Given the description of an element on the screen output the (x, y) to click on. 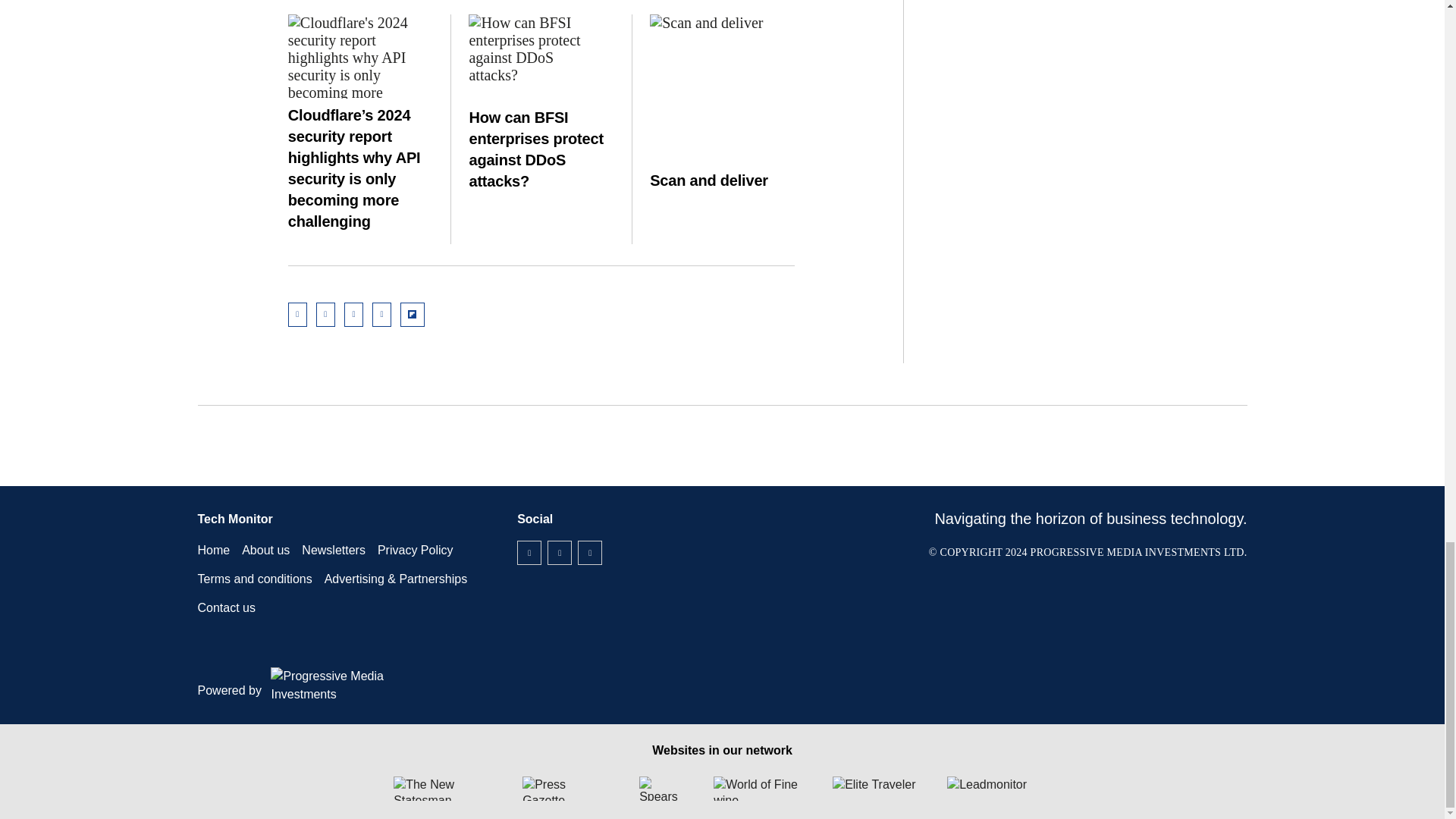
Scan and deliver (721, 68)
Share on Flipboard (412, 314)
